Given the description of an element on the screen output the (x, y) to click on. 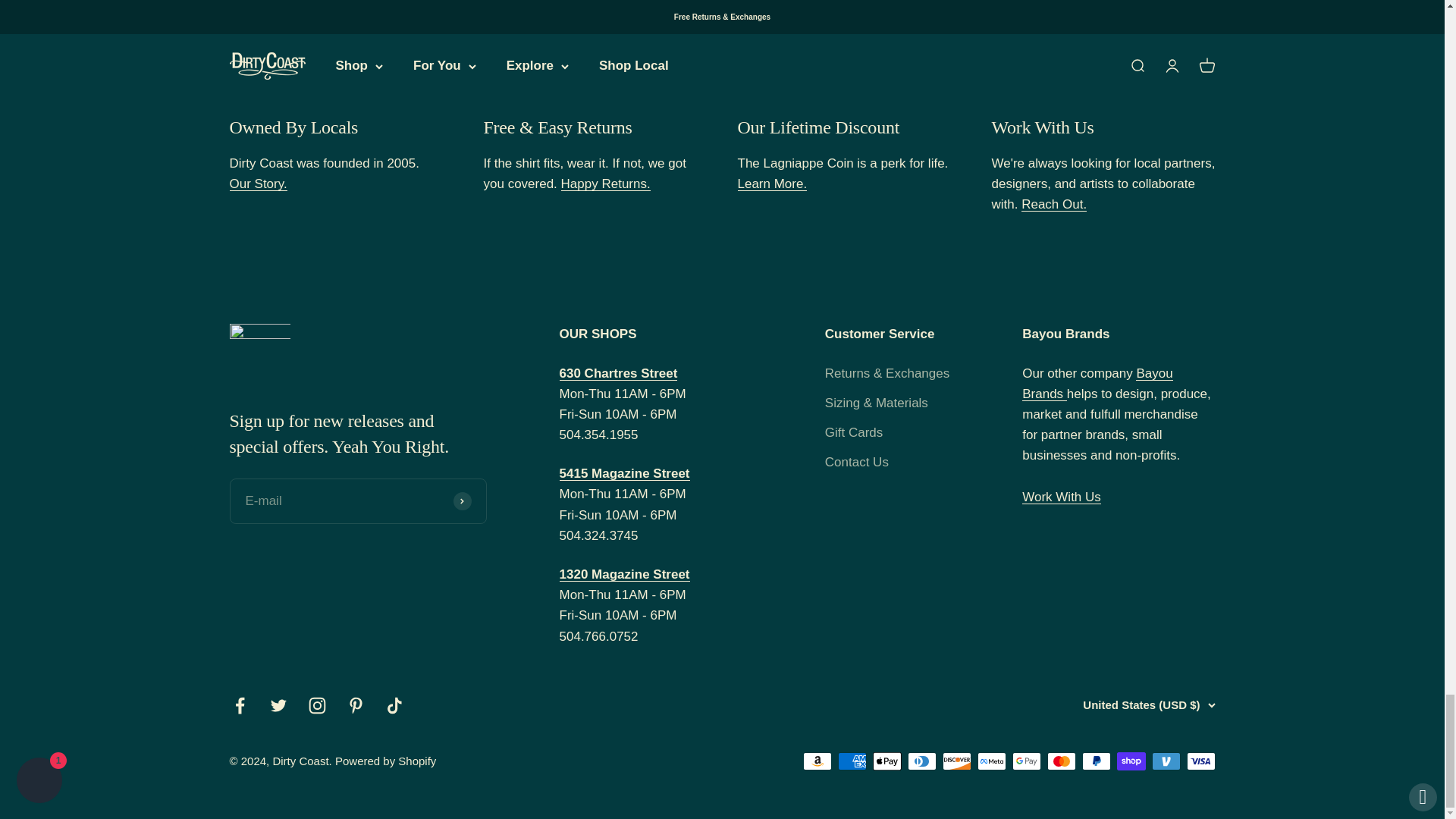
Since 2004 (257, 183)
The Lagniappe List (771, 183)
